Given the description of an element on the screen output the (x, y) to click on. 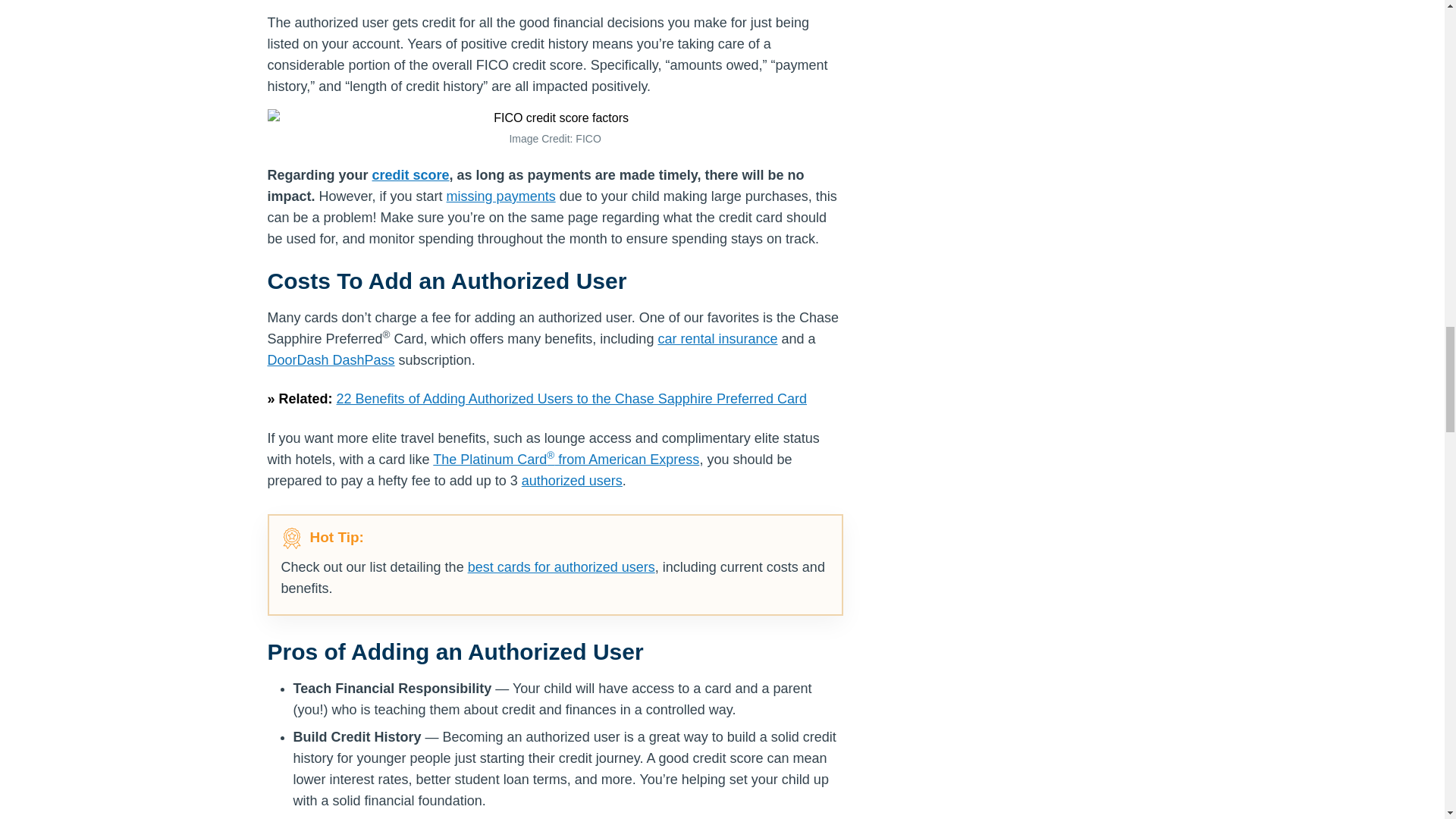
FICO credit score factors (554, 117)
